Given the description of an element on the screen output the (x, y) to click on. 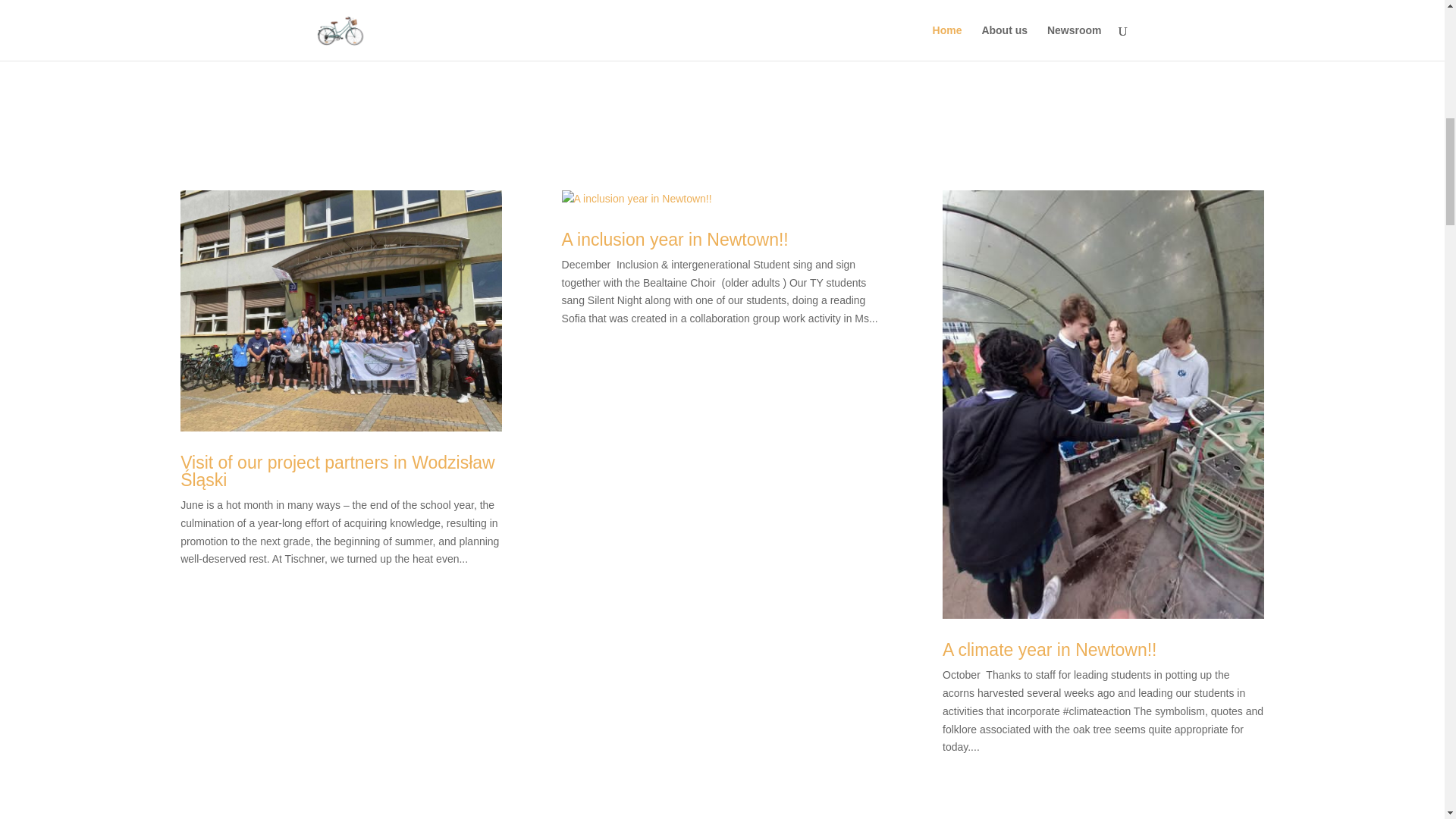
A inclusion year in Newtown!! (675, 239)
A climate year in Newtown!! (1049, 649)
